Given the description of an element on the screen output the (x, y) to click on. 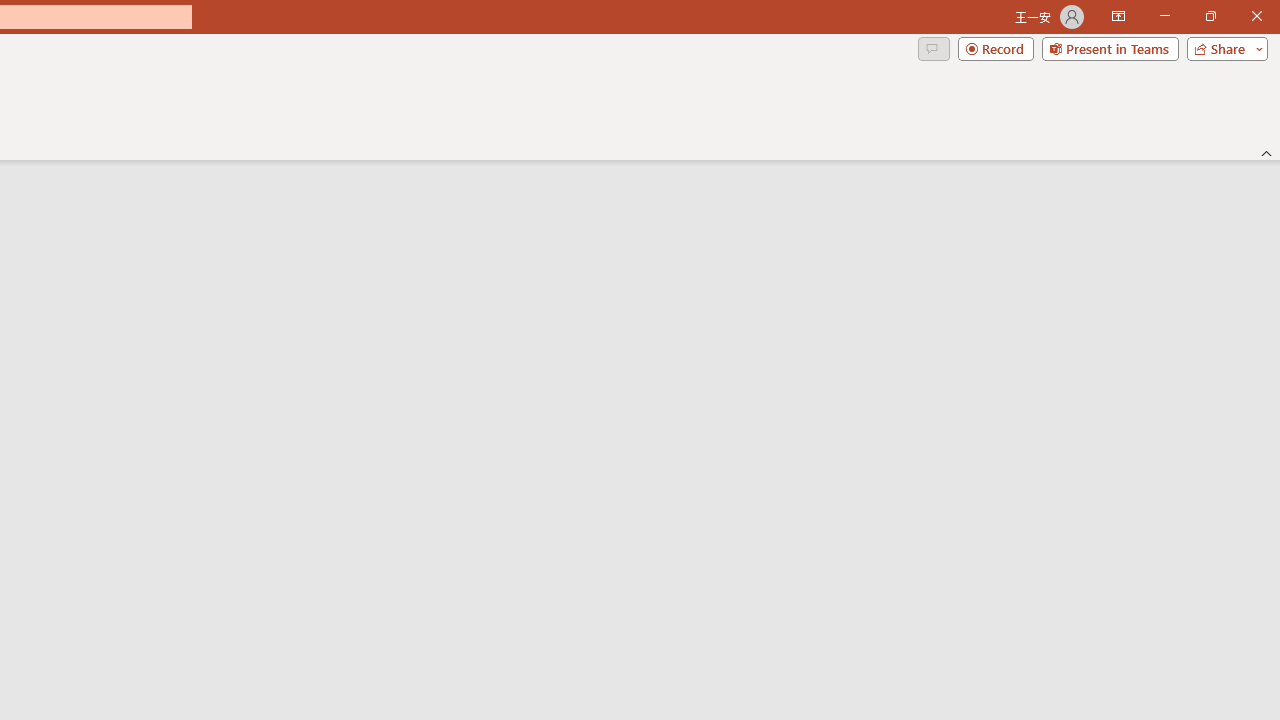
Collapse the Ribbon (1267, 152)
Minimize (1164, 16)
Present in Teams (1109, 48)
Share (1223, 48)
Ribbon Display Options (1118, 16)
Restore Down (1210, 16)
